Given the description of an element on the screen output the (x, y) to click on. 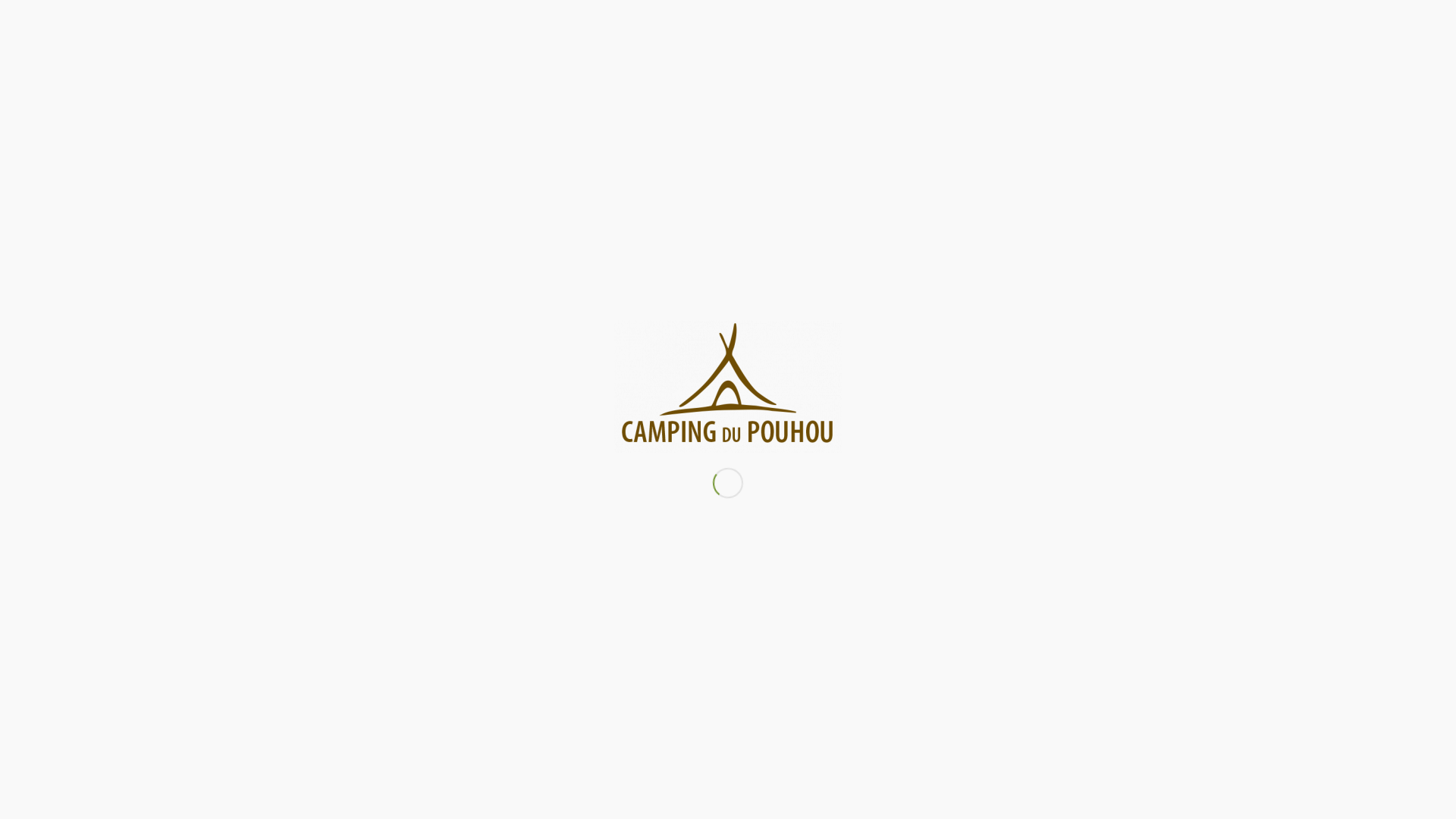
Loading Element type: hover (727, 386)
Facebook Element type: hover (1415, 45)
Contact Element type: text (873, 111)
Glamping Element type: text (682, 111)
Tarieven Element type: text (744, 111)
info@campingdupouhou.be Element type: text (821, 561)
Ligging Element type: text (623, 111)
Facebook Element type: hover (1175, 644)
Activiteiten Element type: text (810, 111)
WELKOM Element type: text (558, 111)
